Given the description of an element on the screen output the (x, y) to click on. 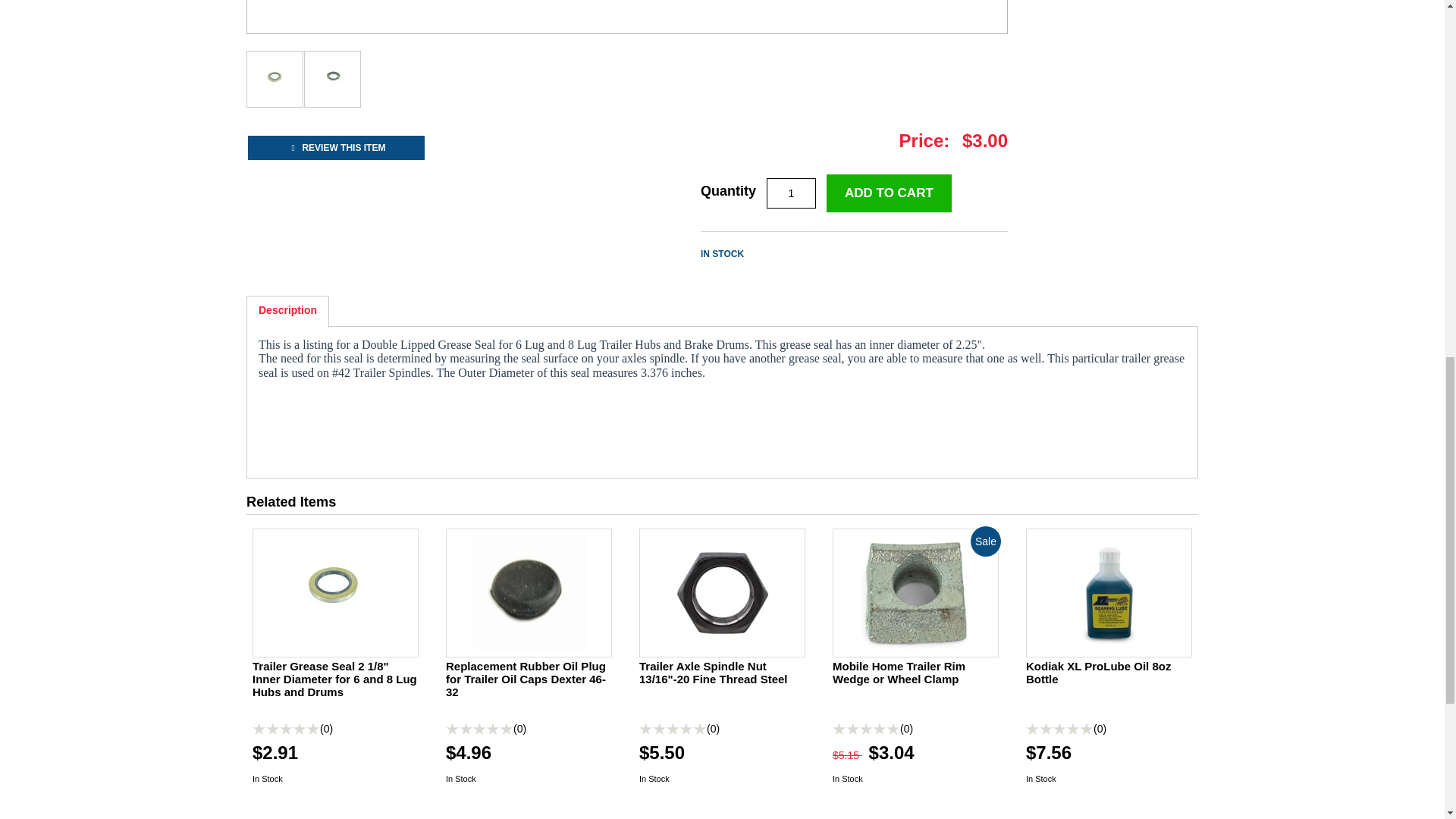
1 (791, 193)
